Given the description of an element on the screen output the (x, y) to click on. 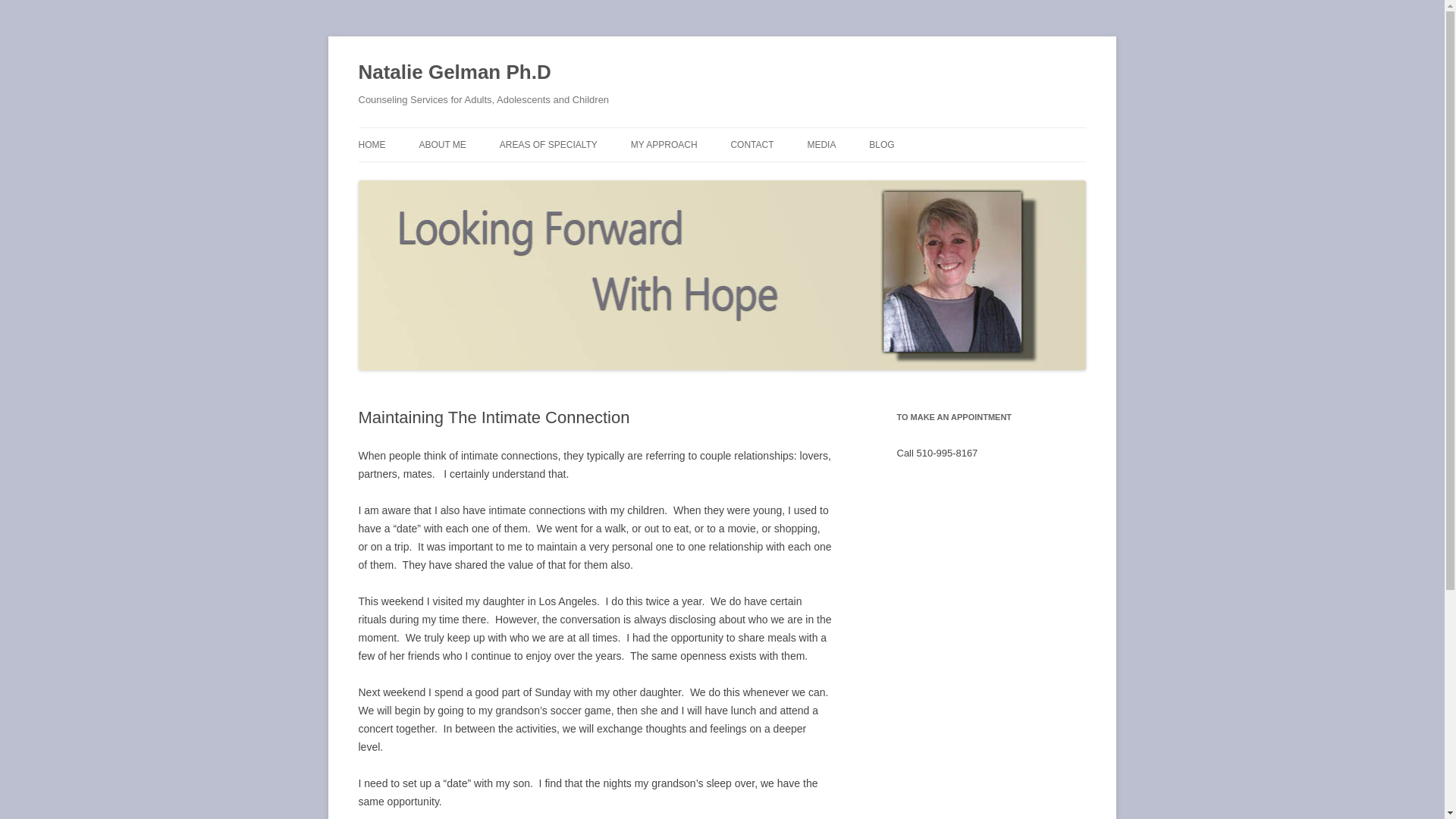
MY APPROACH (663, 144)
Natalie Gelman Ph.D (454, 72)
ABOUT ME (442, 144)
CONTACT (751, 144)
AREAS OF SPECIALTY (547, 144)
